Given the description of an element on the screen output the (x, y) to click on. 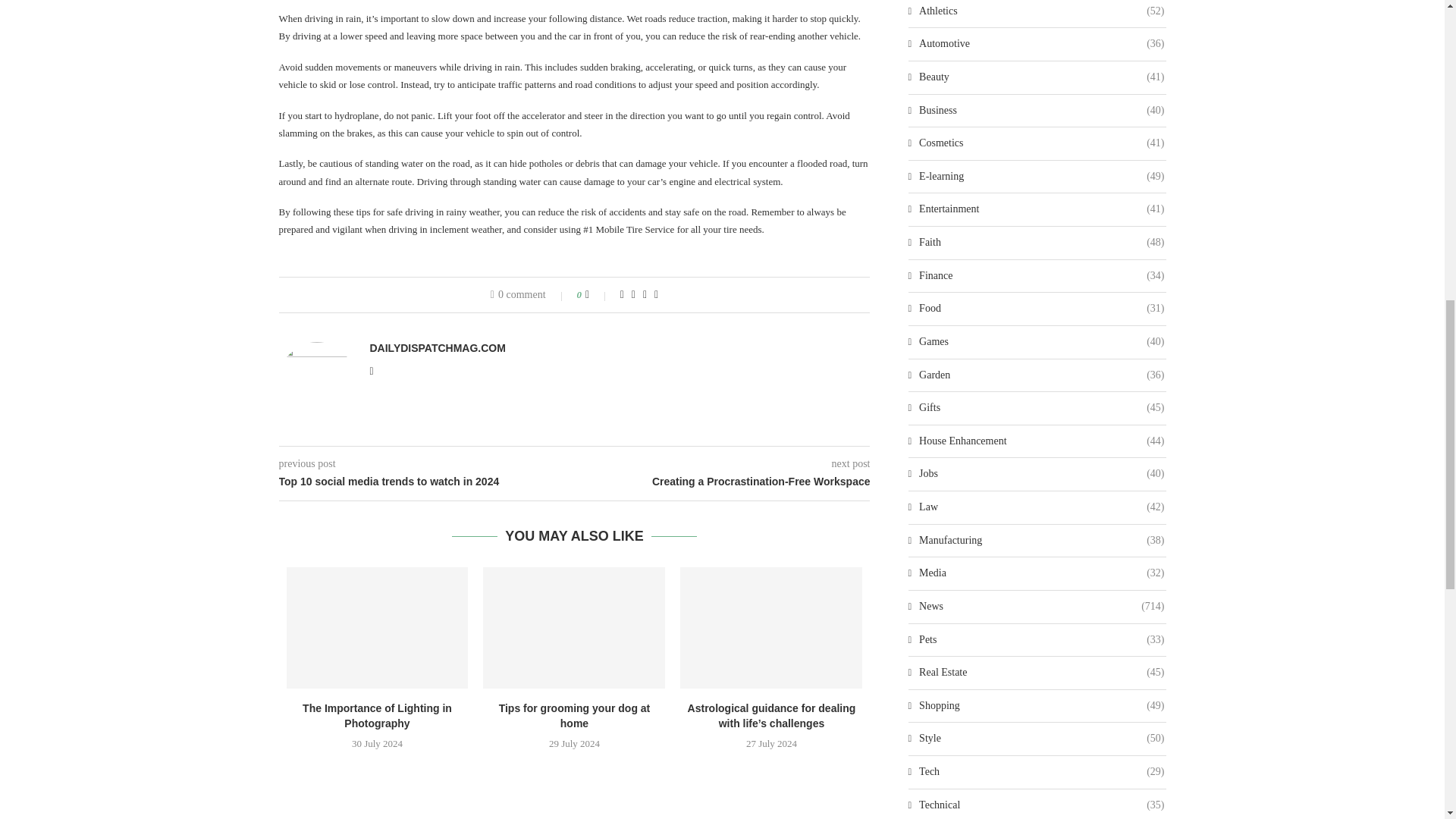
The Importance of Lighting in Photography (377, 627)
DAILYDISPATCHMAG.COM (437, 347)
Creating a Procrastination-Free Workspace (722, 482)
Author dailydispatchmag.com (437, 347)
Tips for grooming your dog at home (574, 627)
Top 10 social media trends to watch in 2024 (427, 482)
Like (597, 295)
